Given the description of an element on the screen output the (x, y) to click on. 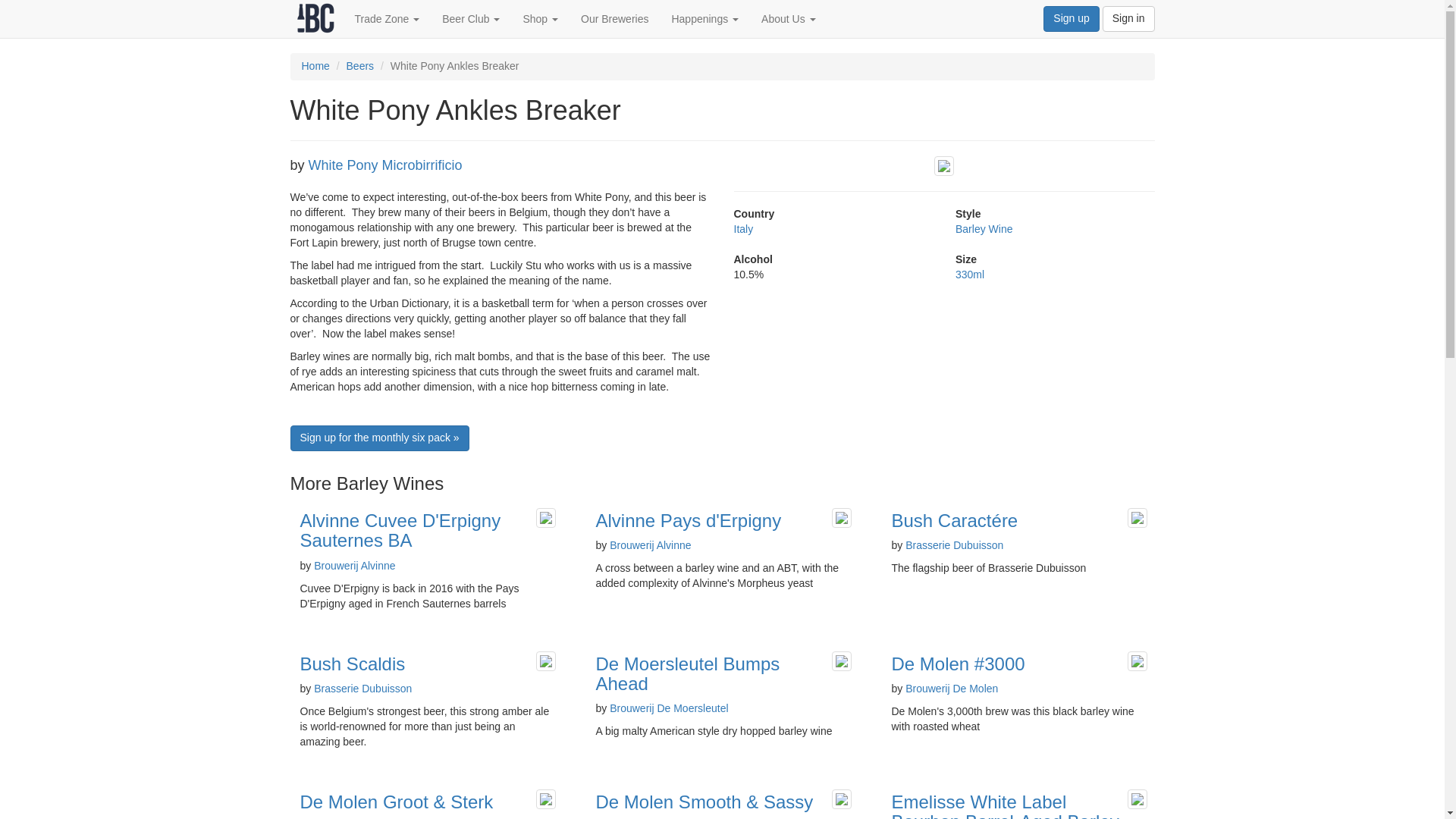
Beers (360, 65)
Sign in (1128, 18)
Brouwerij Alvinne (650, 544)
Barley Wine (983, 228)
Happenings (704, 18)
Brouwerij Alvinne (354, 565)
Sign up (1071, 18)
White Pony Microbirrificio (385, 165)
Our Breweries (614, 18)
Trade Zone (386, 18)
Alvinne Pays d'Erpigny (687, 520)
Beer Club (470, 18)
Home (315, 65)
Alvinne Cuvee D'Erpigny Sauternes BA (399, 530)
Italy (743, 228)
